Given the description of an element on the screen output the (x, y) to click on. 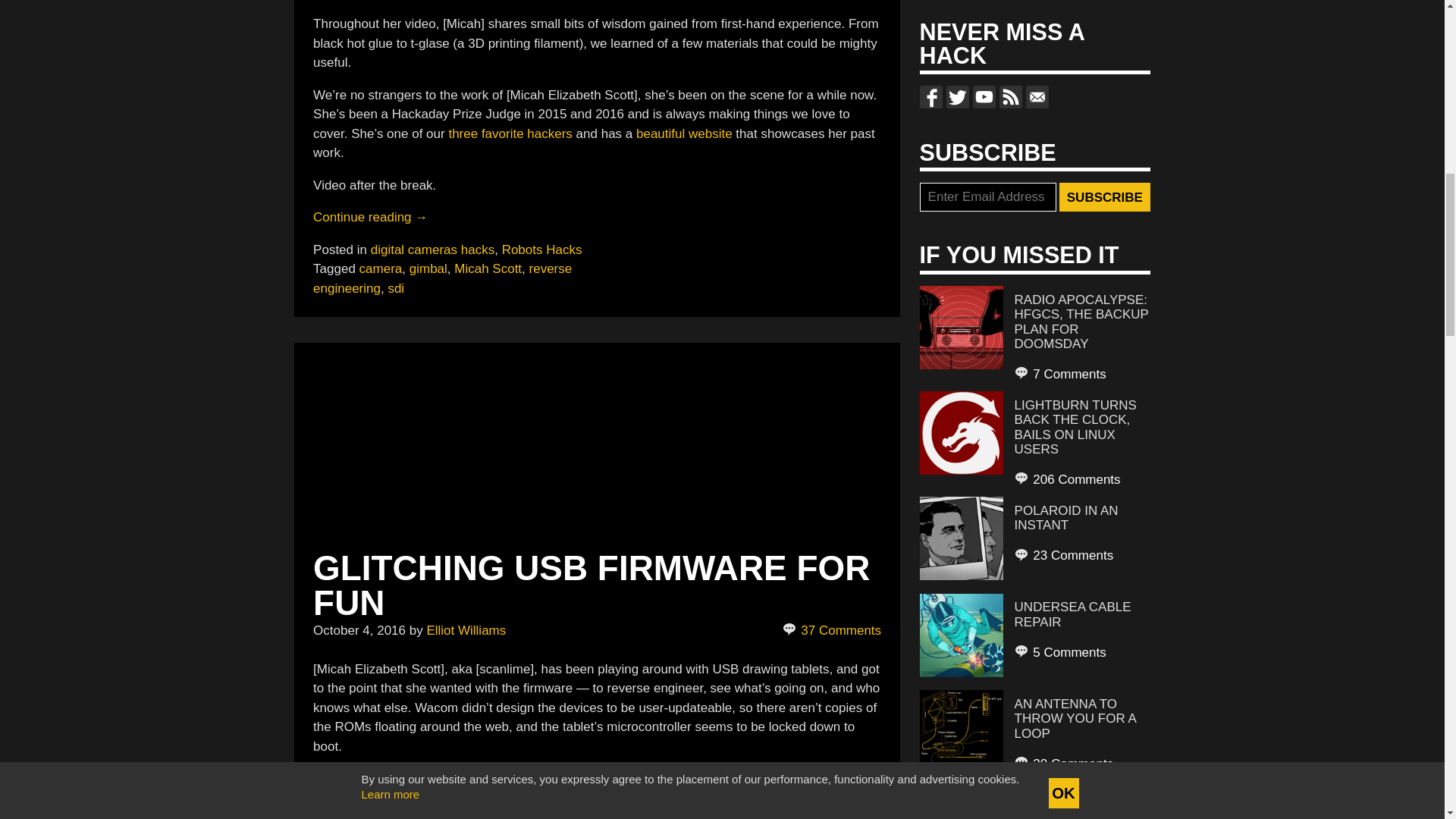
sdi (395, 288)
Elliot Williams (465, 630)
Robots Hacks (542, 249)
GLITCHING USB FIRMWARE FOR FUN (591, 584)
Posts by Elliot Williams (465, 630)
37 Comments (832, 630)
October 4, 2016 (359, 630)
camera (381, 268)
Subscribe (1104, 196)
three favorite hackers (510, 133)
beautiful website (684, 133)
gimbal (427, 268)
October 4, 2016 - 11:31 am (359, 630)
Micah Scott (487, 268)
reverse engineering (442, 278)
